Given the description of an element on the screen output the (x, y) to click on. 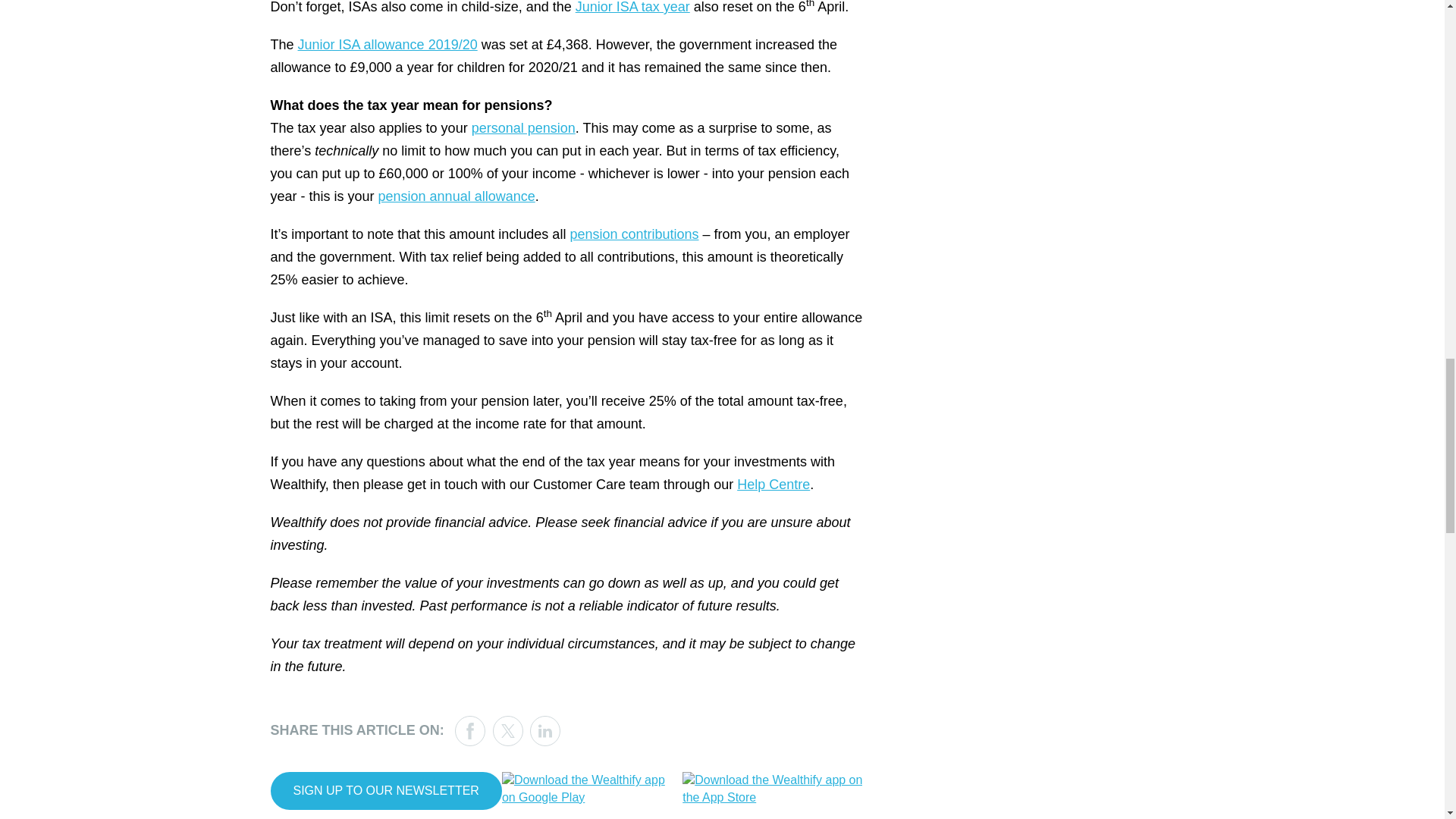
What you need to know about the Junior ISA allowance (387, 44)
pension contributions (633, 233)
SIGN UP TO OUR NEWSLETTER (384, 790)
pension annual allowance (456, 196)
personal pension (523, 127)
Junior ISA tax year (632, 7)
What you need to know about pension contributions (633, 233)
Help Centre (772, 484)
Learn more about your pension annual allowance (456, 196)
